Given the description of an element on the screen output the (x, y) to click on. 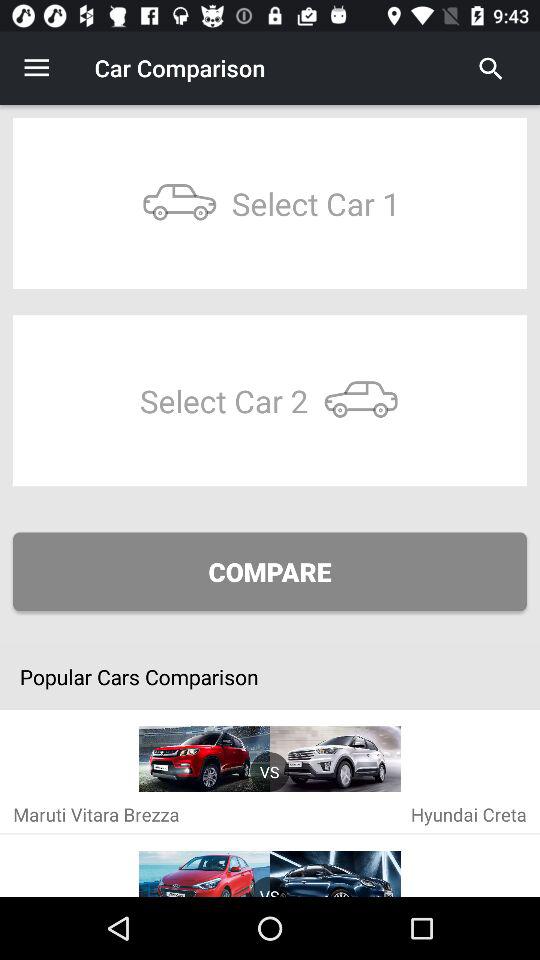
search option (491, 68)
